Given the description of an element on the screen output the (x, y) to click on. 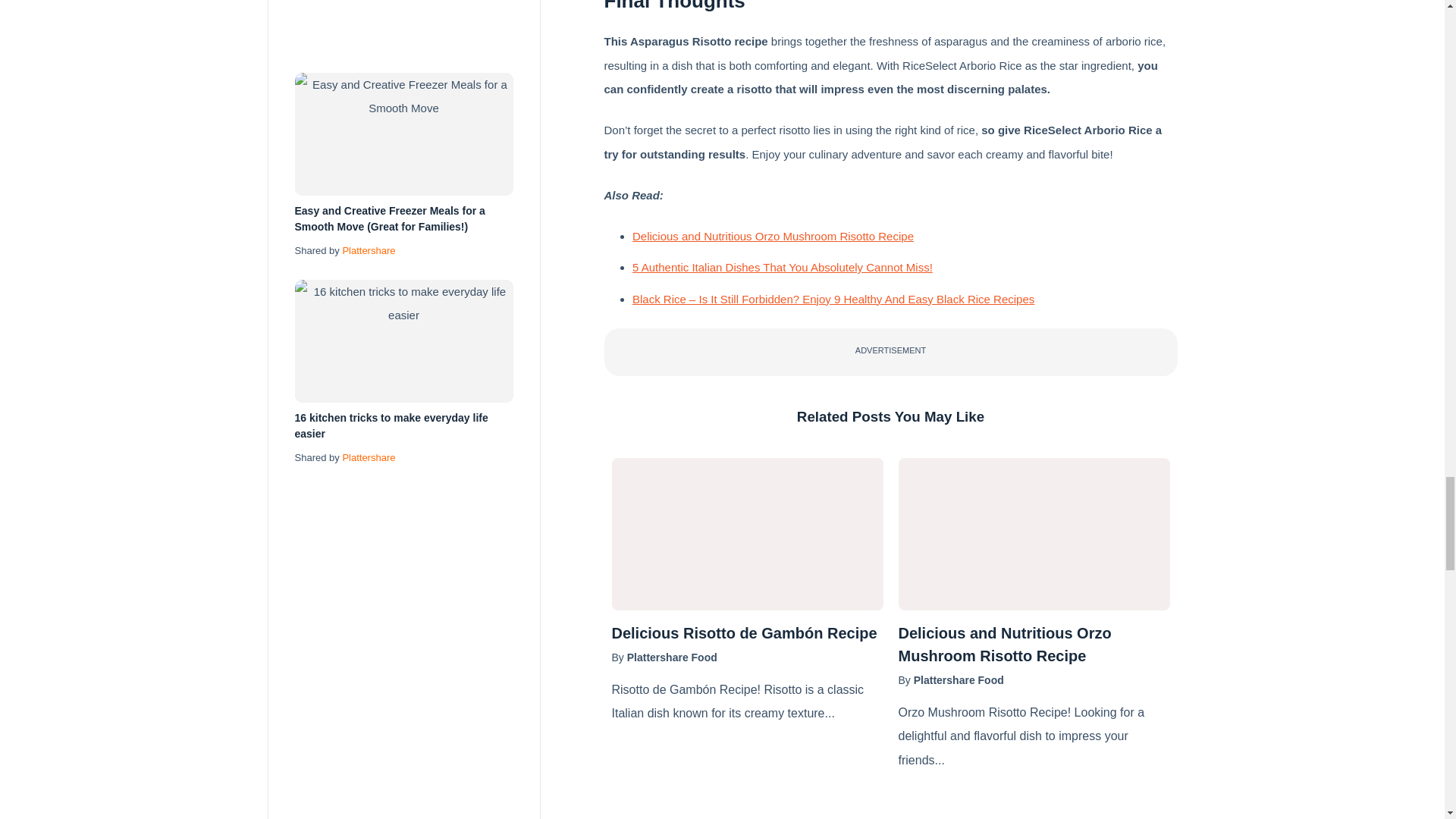
Delicious and Nutritious Orzo Mushroom Risotto Recipe (1033, 533)
Delicious and Nutritious Orzo Mushroom Risotto Recipe (1033, 644)
